Given the description of an element on the screen output the (x, y) to click on. 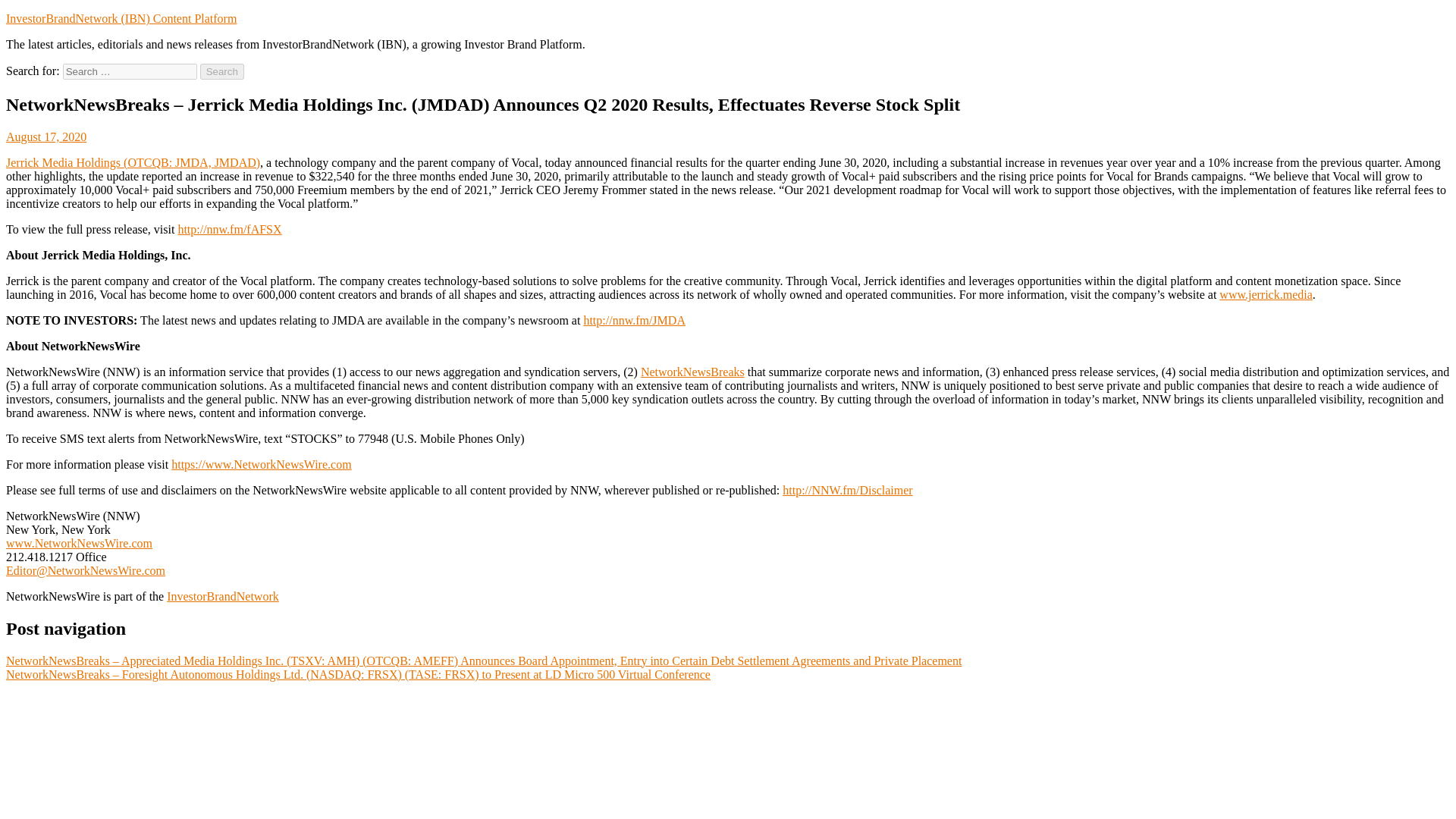
InvestorBrandNetwork (223, 595)
Search (222, 71)
NetworkNewsBreaks (692, 371)
August 17, 2020 (45, 136)
Search (222, 71)
Search (222, 71)
www.NetworkNewsWire.com (78, 543)
www.jerrick.media (1265, 294)
